Given the description of an element on the screen output the (x, y) to click on. 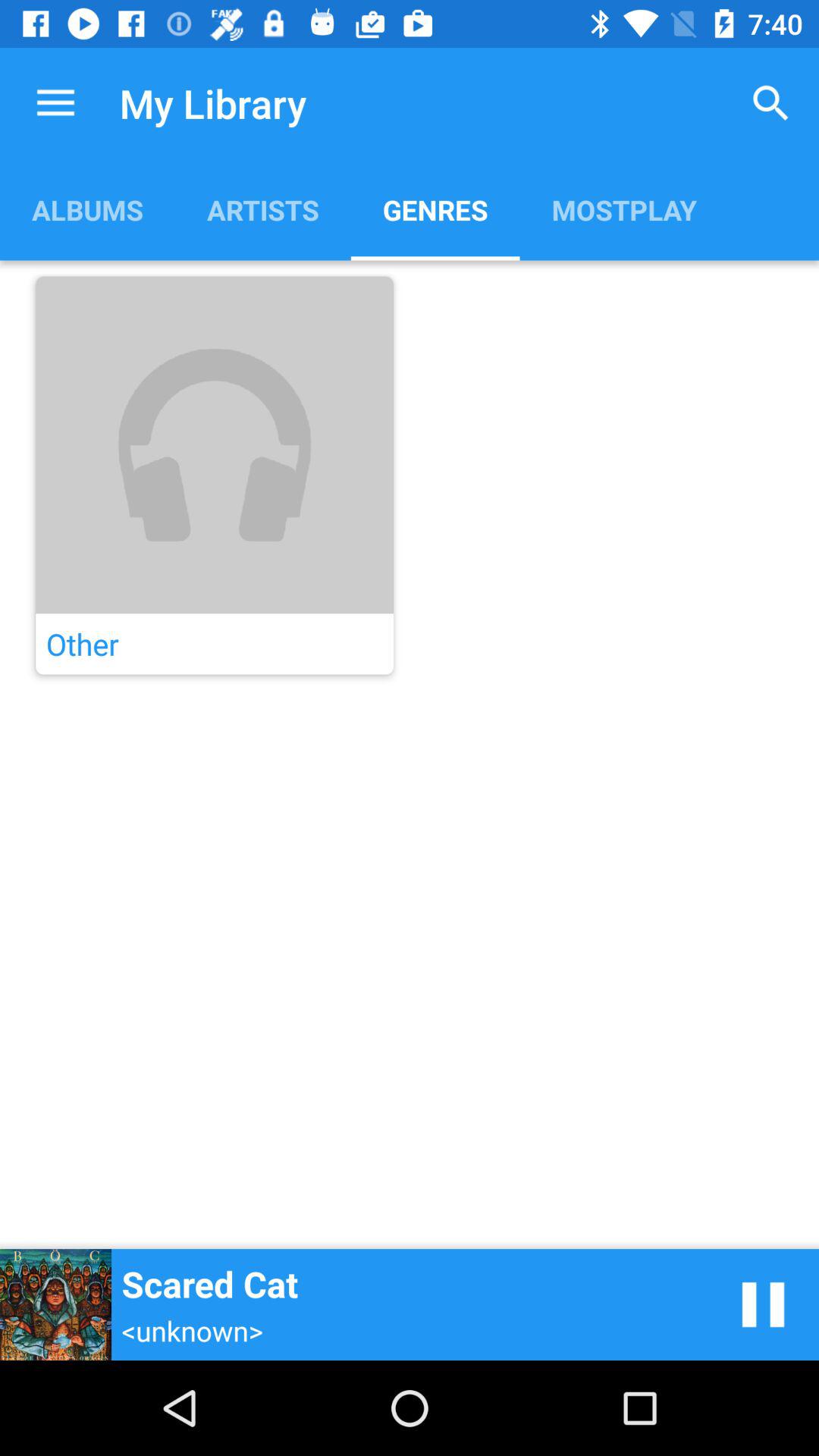
launch item above mostplay icon (771, 103)
